Given the description of an element on the screen output the (x, y) to click on. 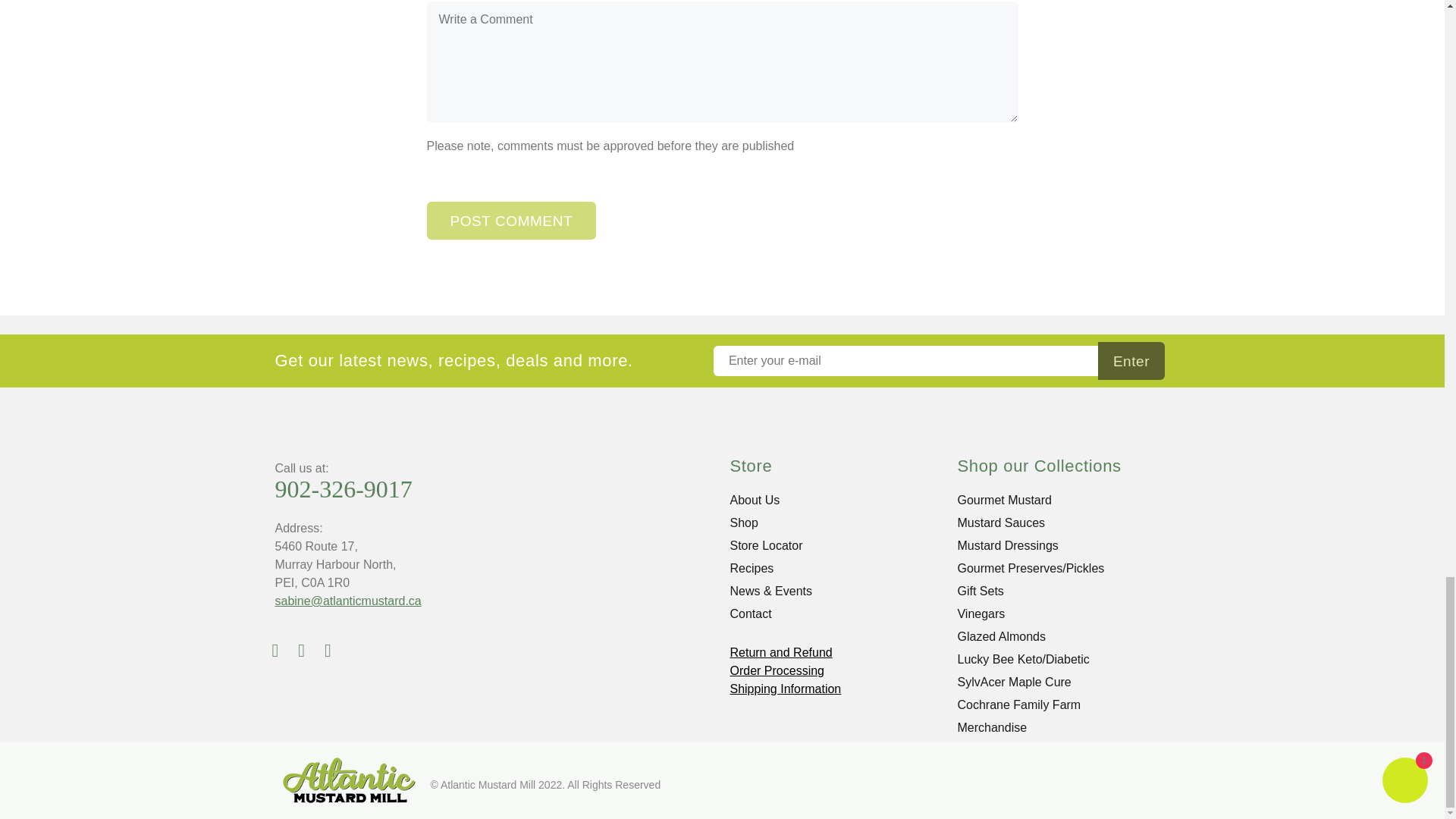
Order Processing (776, 670)
Return and Refund (780, 652)
Shipping Information (785, 688)
